Given the description of an element on the screen output the (x, y) to click on. 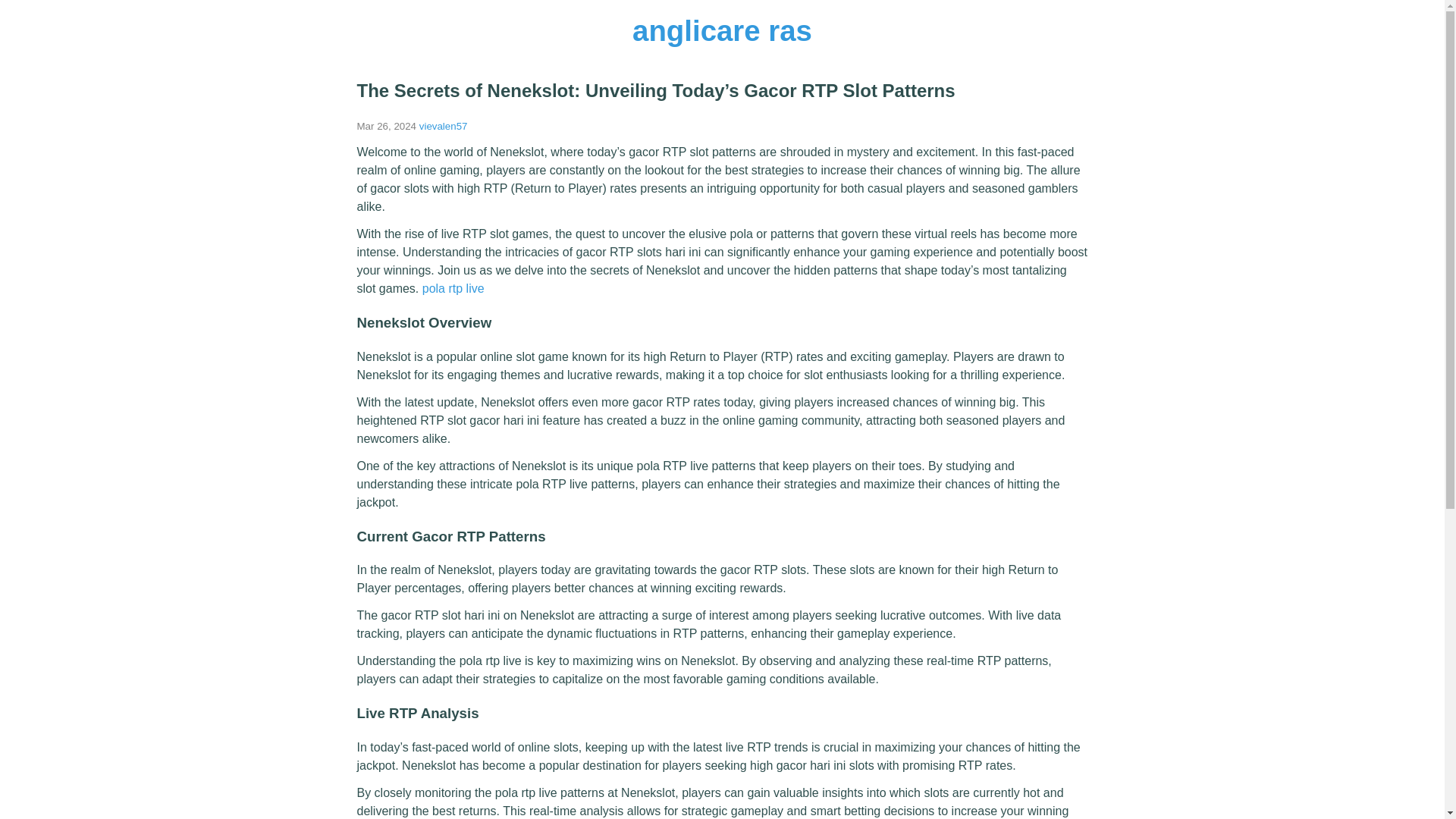
vievalen57 (443, 125)
anglicare ras (721, 30)
pola rtp live (453, 287)
